Given the description of an element on the screen output the (x, y) to click on. 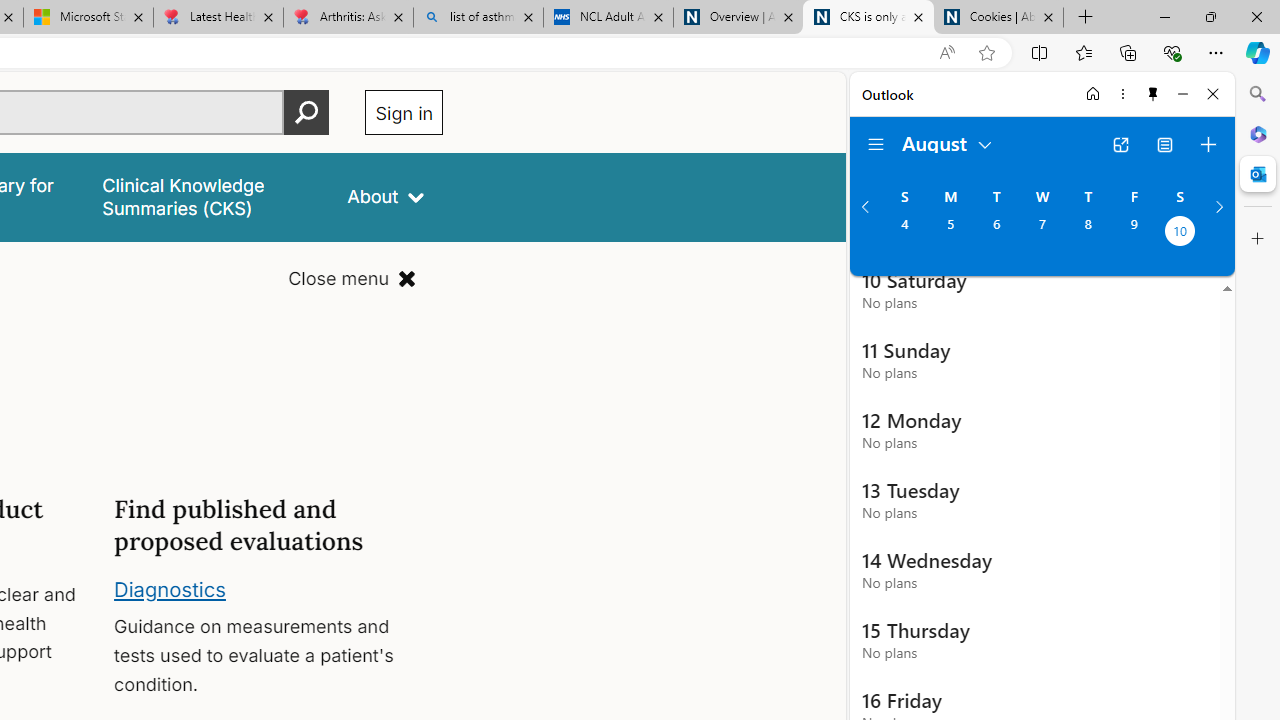
Open in new tab (1120, 144)
Cookies | About | NICE (998, 17)
Diagnostics (169, 588)
August (948, 141)
